Given the description of an element on the screen output the (x, y) to click on. 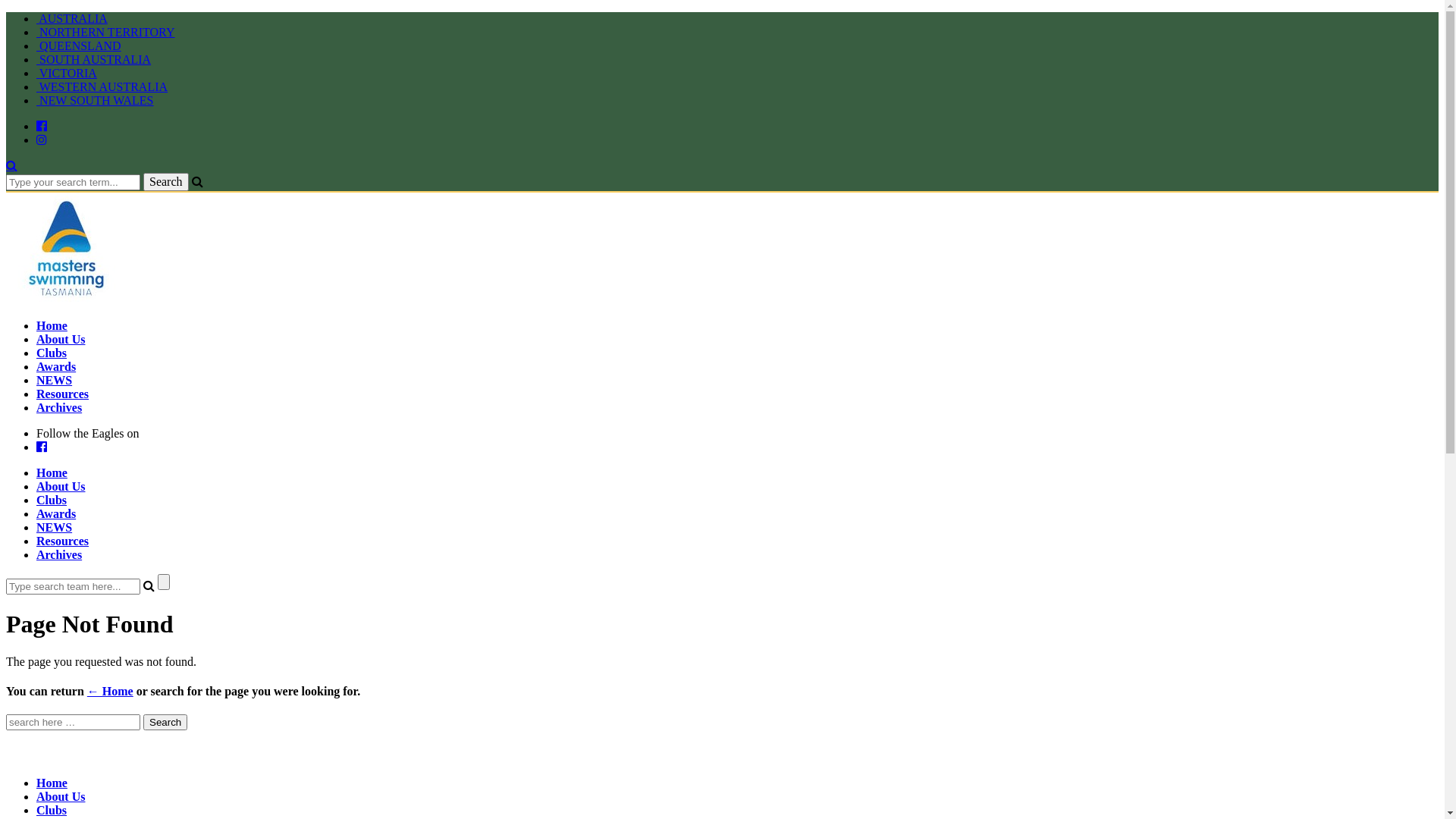
NEWS Element type: text (54, 526)
Archives Element type: text (58, 554)
Home Element type: text (51, 472)
About Us Element type: text (60, 796)
SOUTH AUSTRALIA Element type: text (93, 59)
NEW SOUTH WALES Element type: text (94, 100)
NEWS Element type: text (54, 379)
Resources Element type: text (62, 393)
WESTERN AUSTRALIA Element type: text (101, 86)
NORTHERN TERRITORY Element type: text (105, 31)
AUSTRALIA Element type: text (71, 18)
Archives Element type: text (58, 407)
Search Element type: text (165, 181)
Clubs Element type: text (51, 499)
Search Element type: text (165, 722)
Resources Element type: text (62, 540)
About Us Element type: text (60, 338)
Home Element type: text (51, 325)
Home Element type: text (51, 782)
Awards Element type: text (55, 513)
QUEENSLAND Element type: text (78, 45)
Awards Element type: text (55, 366)
Search Element type: hover (11, 165)
Clubs Element type: text (51, 352)
Clubs Element type: text (51, 809)
About Us Element type: text (60, 486)
VICTORIA Element type: text (66, 72)
